Given the description of an element on the screen output the (x, y) to click on. 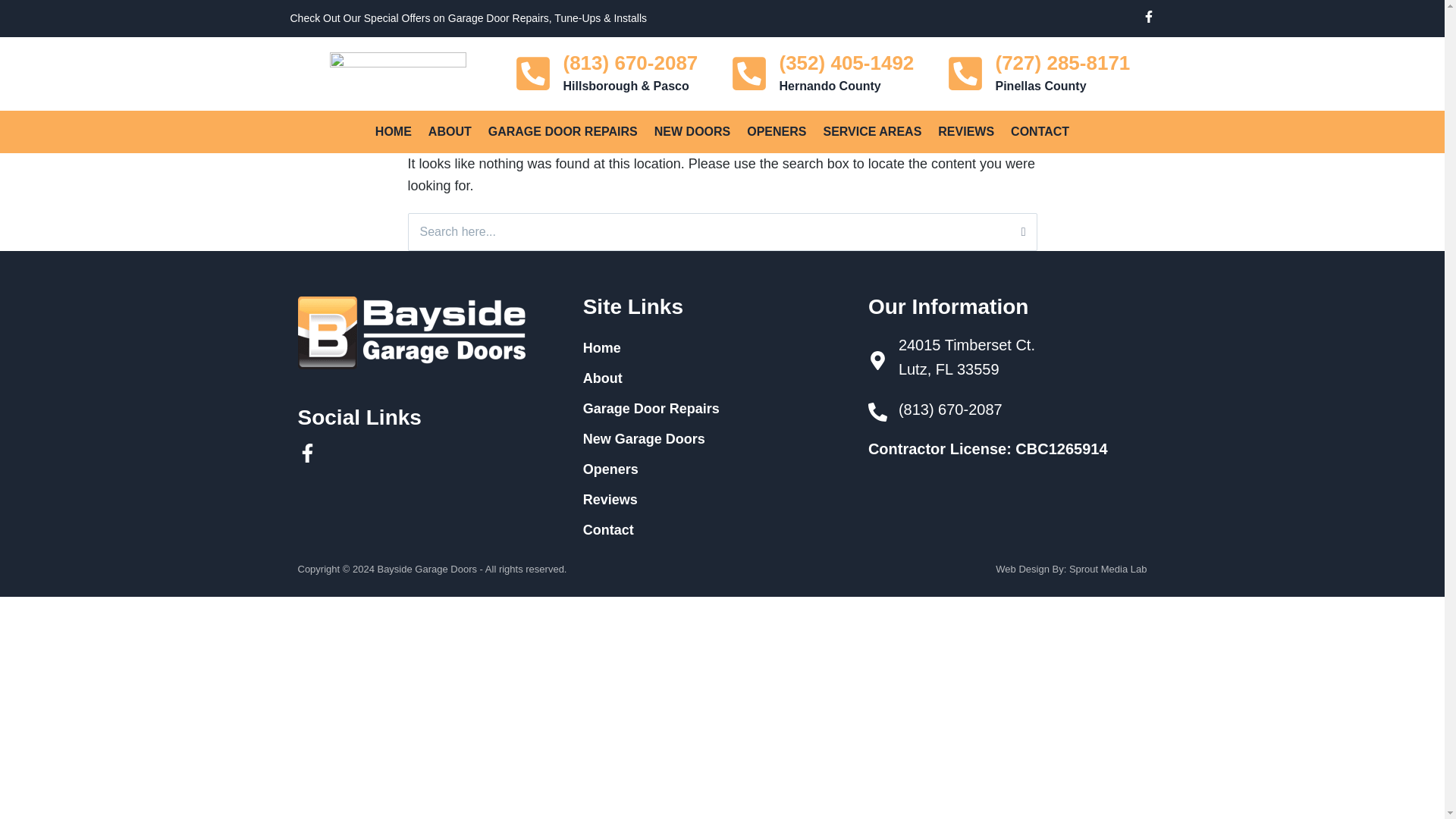
GARAGE DOOR REPAIRS (563, 131)
SERVICE AREAS (871, 131)
OPENERS (775, 131)
ABOUT (450, 131)
REVIEWS (966, 131)
NEW DOORS (692, 131)
HOME (393, 131)
CONTACT (1040, 131)
